Given the description of an element on the screen output the (x, y) to click on. 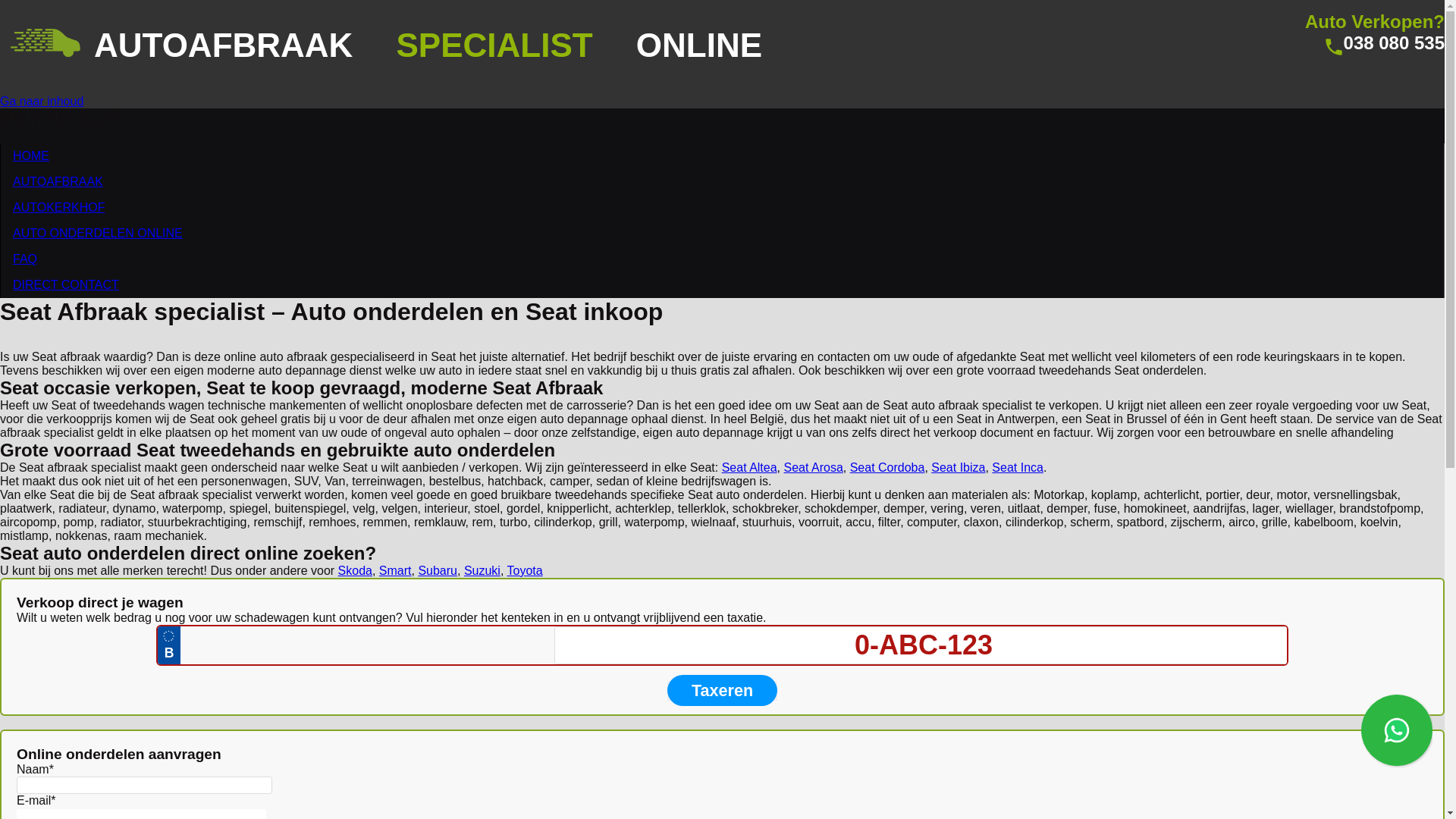
AUTOAFBRAAK Element type: text (57, 181)
Ga naar inhoud Element type: text (41, 100)
Subaru Element type: text (437, 570)
DIRECT CONTACT Element type: text (65, 284)
Toyota Element type: text (524, 570)
Seat Cordoba Element type: text (887, 467)
Seat Inca Element type: text (1017, 467)
Seat Altea Element type: text (749, 467)
Suzuki Element type: text (482, 570)
FAQ Element type: text (24, 258)
Seat Arosa Element type: text (813, 467)
Taxeren Element type: text (722, 690)
Seat Ibiza Element type: text (958, 467)
Skoda Element type: text (355, 570)
Smart Element type: text (395, 570)
AUTOAFBRAAK
SPECIALIST
ONLINE Element type: text (448, 45)
HOME Element type: text (30, 155)
AUTO ONDERDELEN ONLINE Element type: text (97, 232)
0-ABC-123 Element type: text (923, 645)
AUTOKERKHOF Element type: text (58, 206)
